Given the description of an element on the screen output the (x, y) to click on. 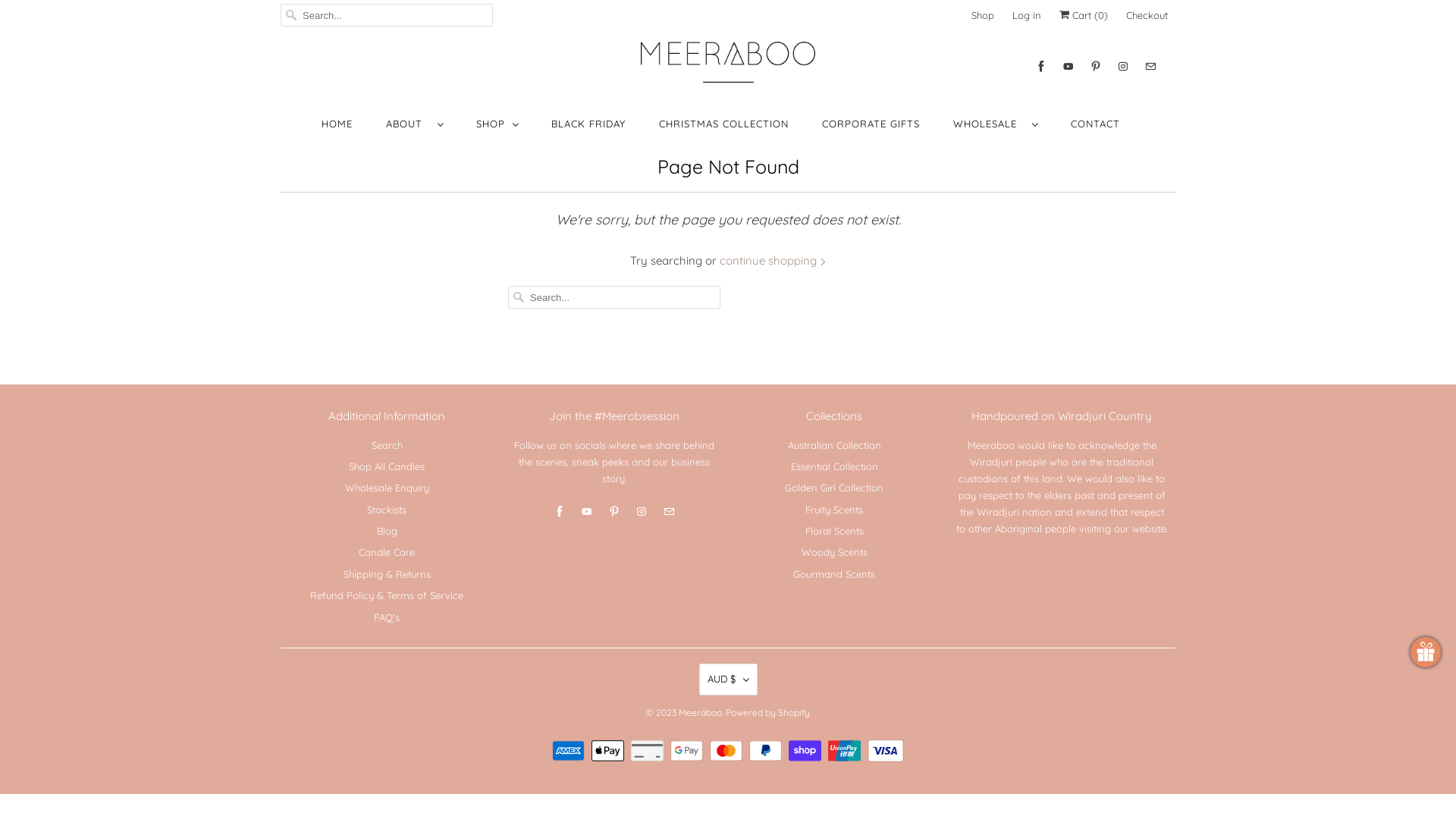
CHRISTMAS COLLECTION Element type: text (722, 123)
Essential Collection Element type: text (833, 466)
Meeraboo on Instagram Element type: hover (641, 511)
FAQ's Element type: text (386, 617)
Email Meeraboo Element type: hover (1150, 66)
SHOP Element type: text (496, 123)
Shipping & Returns Element type: text (385, 573)
Cart (0) Element type: text (1083, 14)
continue shopping Element type: text (771, 260)
HOME Element type: text (336, 123)
Fruity Scents Element type: text (833, 509)
Golden Girl Collection Element type: text (833, 487)
WHOLESALE  Element type: text (994, 123)
Meeraboo on YouTube Element type: hover (1068, 66)
BLACK FRIDAY Element type: text (587, 123)
Candle Care Element type: text (386, 552)
CORPORATE GIFTS Element type: text (870, 123)
Wholesale Enquiry Element type: text (386, 487)
Australian Collection Element type: text (833, 444)
Meeraboo on Pinterest Element type: hover (1095, 66)
Shop Element type: text (982, 14)
Meeraboo on Facebook Element type: hover (559, 511)
CONTACT Element type: text (1095, 123)
Meeraboo Element type: text (699, 707)
Powered by Shopify Element type: text (767, 707)
Shop All Candles Element type: text (386, 466)
Meeraboo on Facebook Element type: hover (1041, 66)
Meeraboo Element type: hover (727, 61)
Refund Policy & Terms of Service Element type: text (386, 595)
Log in Element type: text (1026, 14)
Blog Element type: text (386, 530)
Meeraboo on YouTube Element type: hover (586, 511)
Checkout Element type: text (1146, 14)
Email Meeraboo Element type: hover (668, 511)
Stockists Element type: text (386, 509)
Floral Scents Element type: text (834, 530)
AUD $ Element type: text (728, 679)
Meeraboo on Instagram Element type: hover (1122, 66)
Meeraboo on Pinterest Element type: hover (614, 511)
Woody Scents Element type: text (833, 552)
Gourmand Scents Element type: text (834, 573)
ABOUT  Element type: text (413, 123)
Search Element type: text (386, 444)
